Given the description of an element on the screen output the (x, y) to click on. 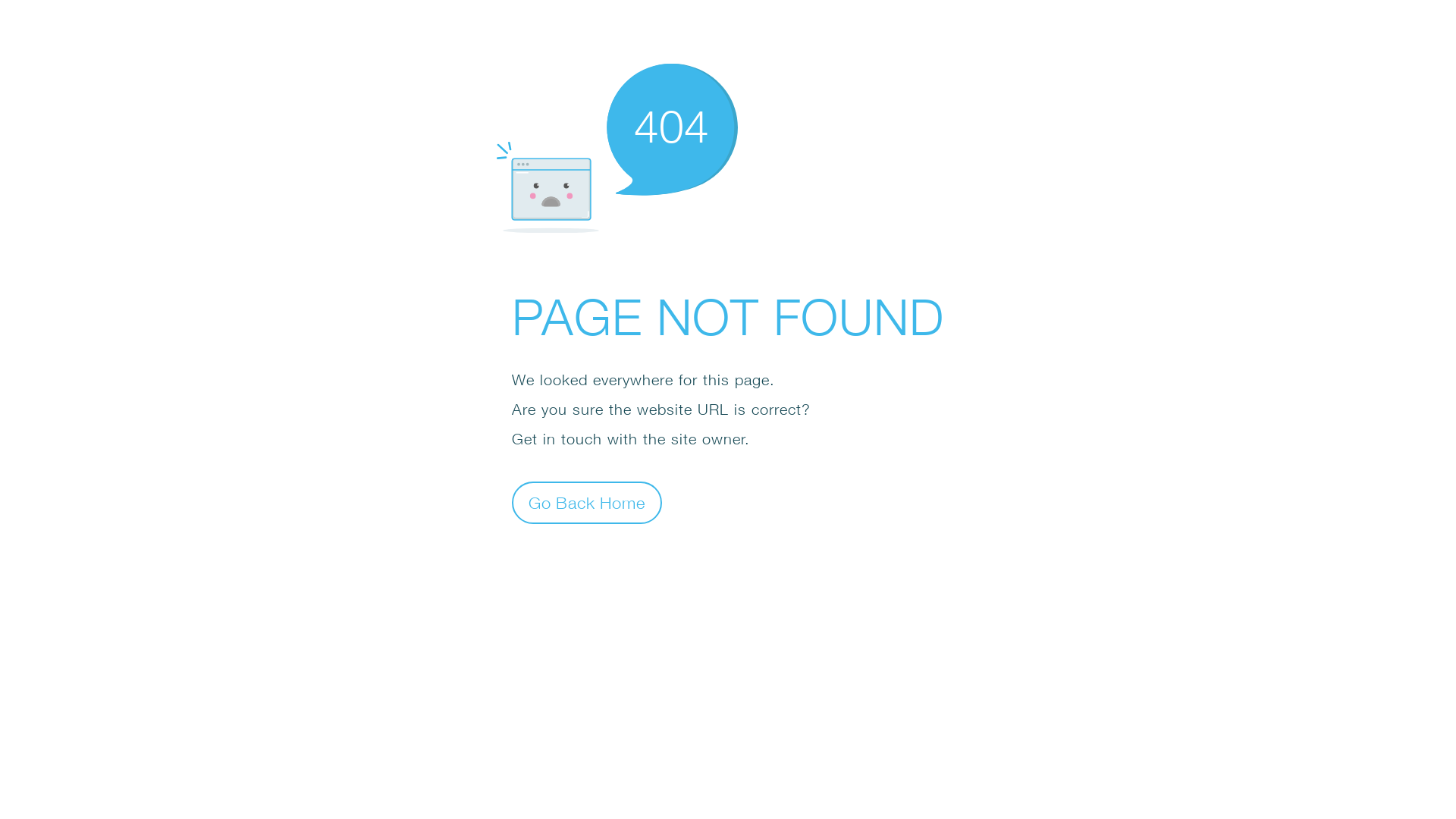
Go Back Home Element type: text (586, 502)
